Given the description of an element on the screen output the (x, y) to click on. 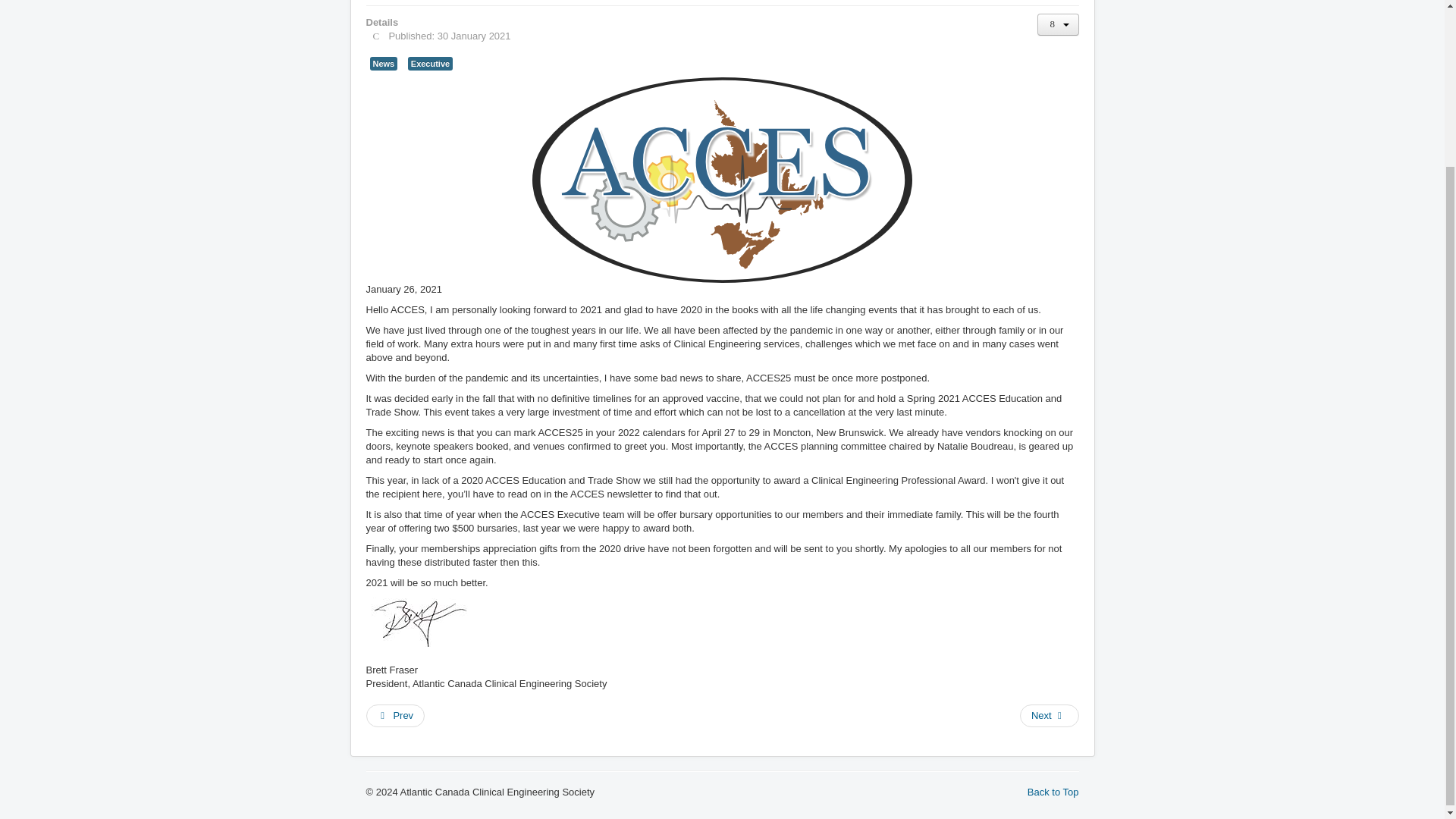
Next (1049, 715)
Brett's John Henry (419, 626)
Executive (429, 63)
Back to Top (1052, 791)
News (383, 63)
Prev (395, 715)
